Given the description of an element on the screen output the (x, y) to click on. 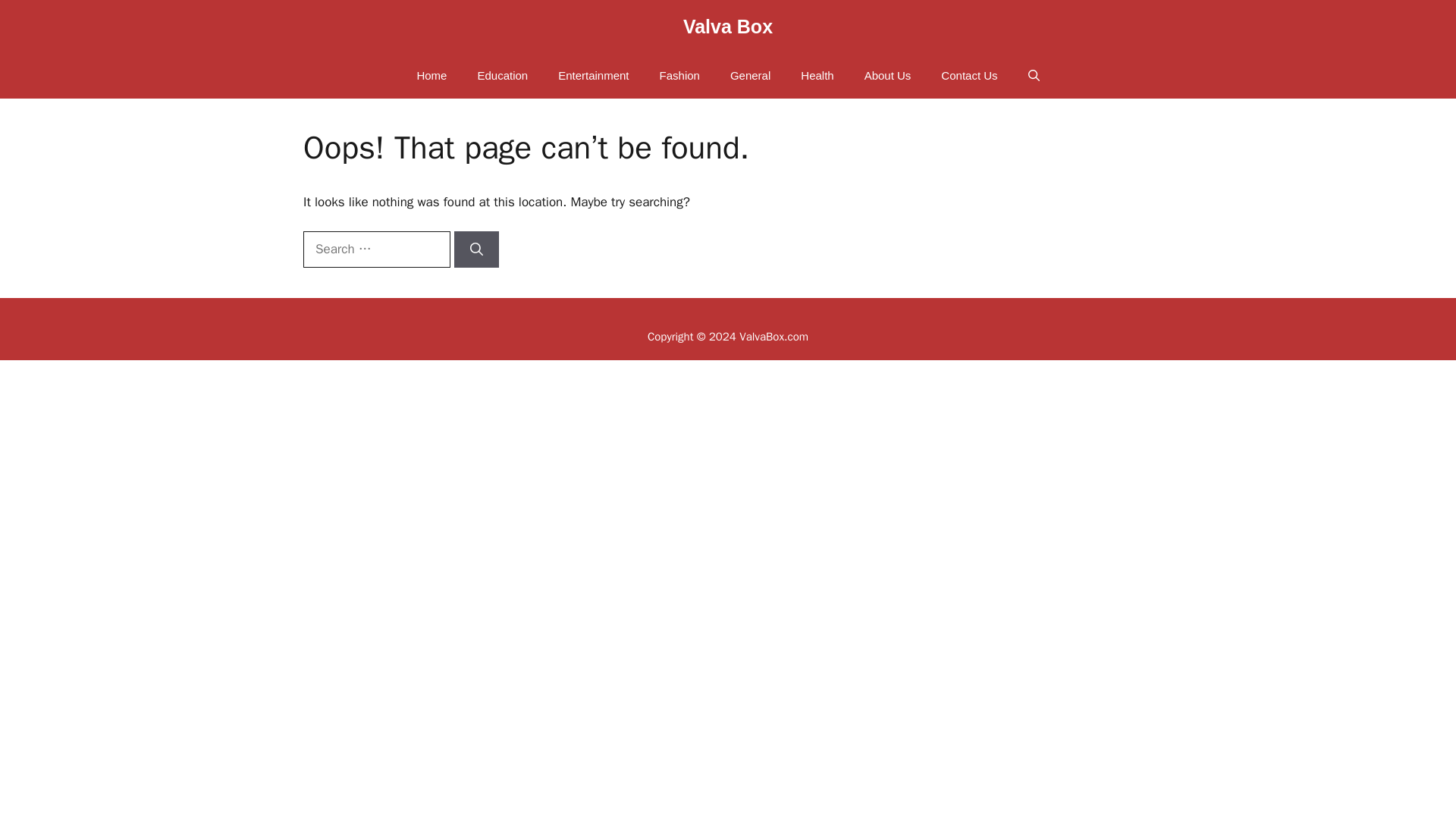
Home (431, 75)
About Us (887, 75)
Education (502, 75)
Valva Box (727, 25)
General (750, 75)
Entertainment (593, 75)
Fashion (679, 75)
Search for: (375, 248)
Contact Us (968, 75)
Health (817, 75)
